Given the description of an element on the screen output the (x, y) to click on. 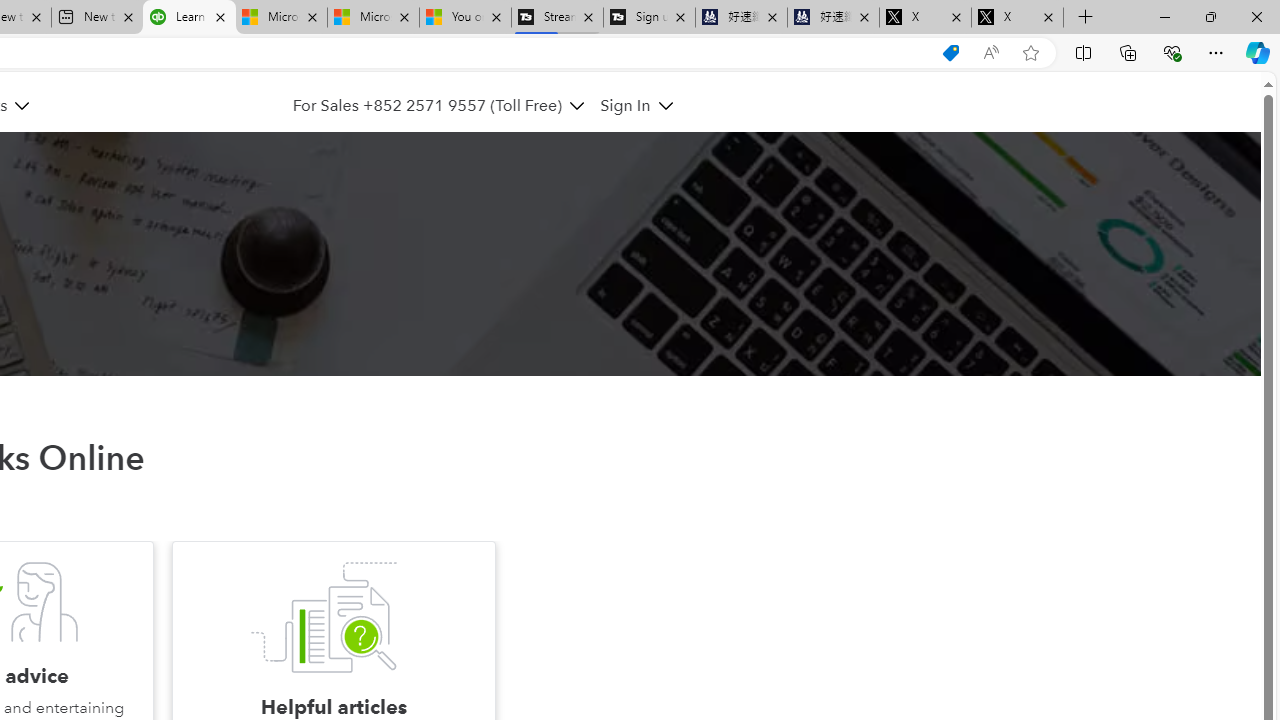
Sign In (636, 105)
For Sales +852 2571 9557 (Toll Free) (427, 105)
Learn and Support | QuickBooks Hong Kong (189, 17)
